Given the description of an element on the screen output the (x, y) to click on. 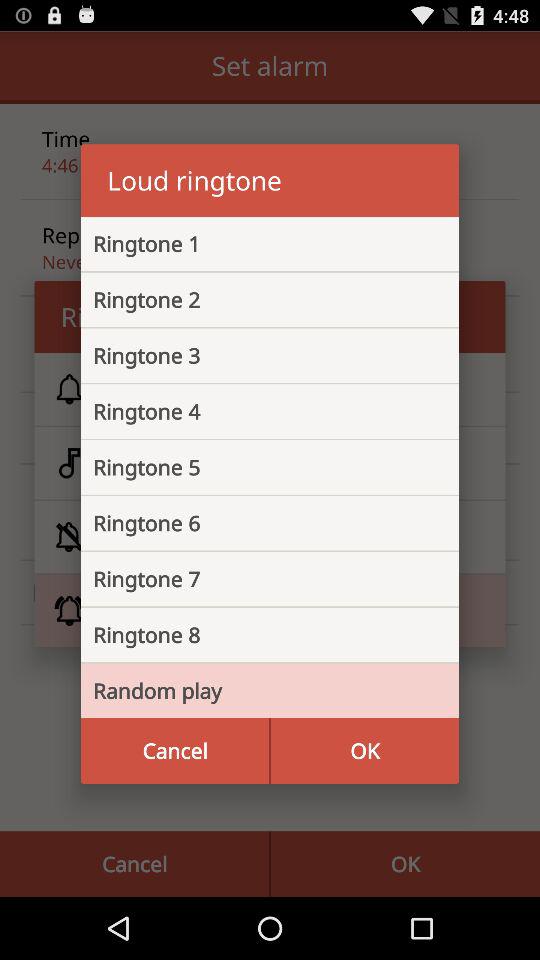
select the ringtone 6 item (254, 523)
